Given the description of an element on the screen output the (x, y) to click on. 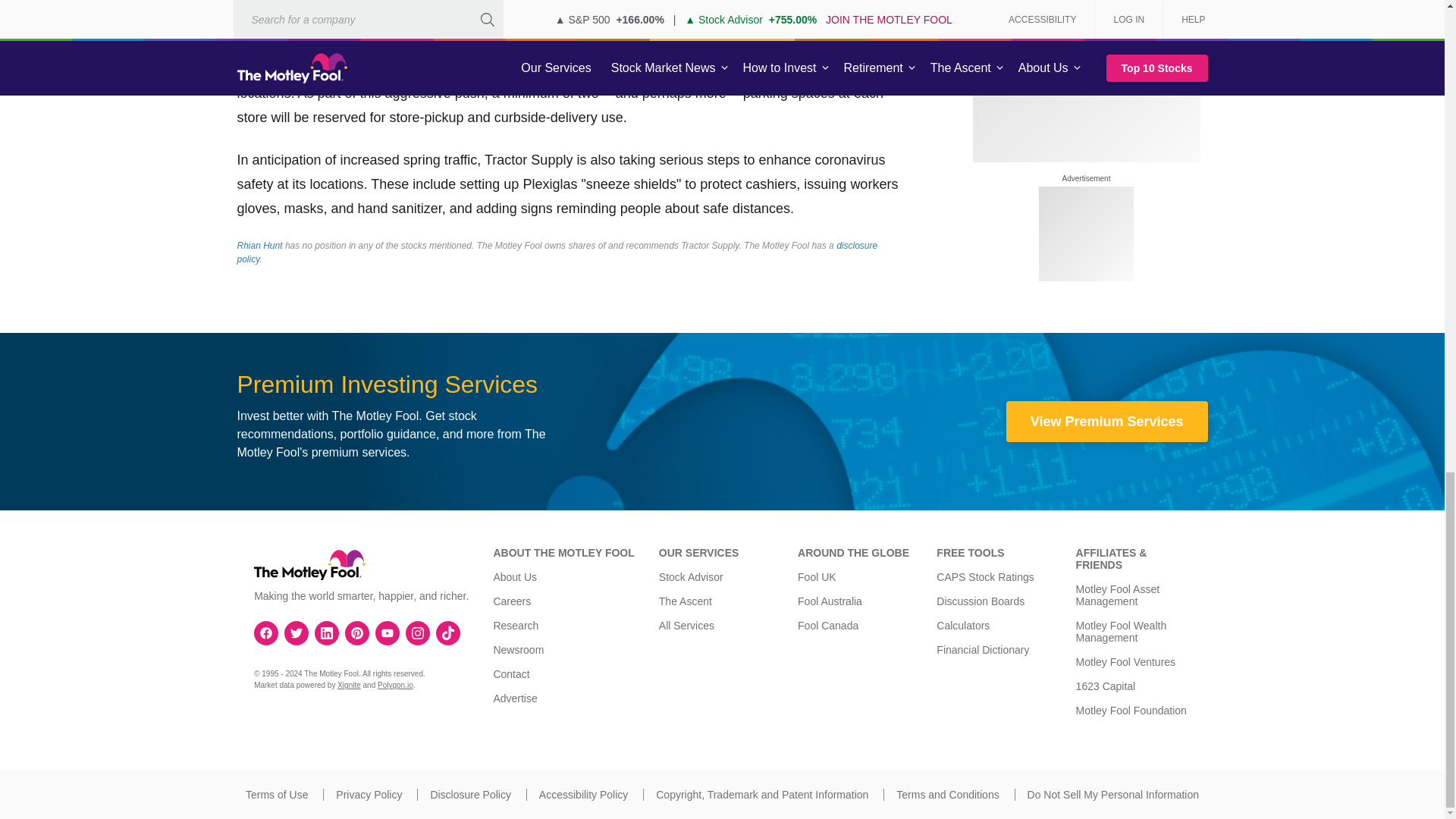
Do Not Sell My Personal Information. (1112, 794)
Privacy Policy (368, 794)
Disclosure Policy (470, 794)
Accessibility Policy (582, 794)
Terms of Use (276, 794)
Copyright, Trademark and Patent Information (761, 794)
Terms and Conditions (947, 794)
